Given the description of an element on the screen output the (x, y) to click on. 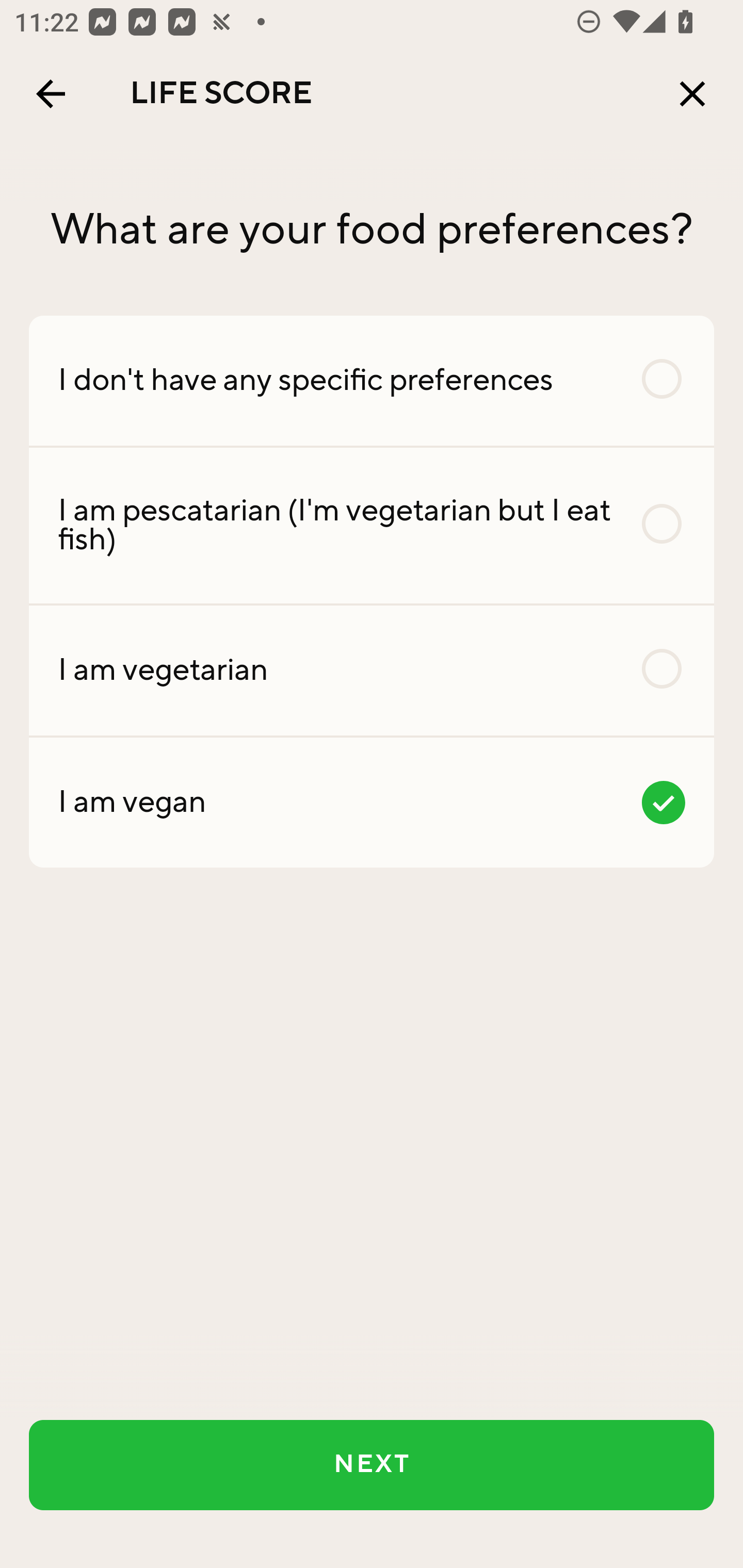
I don't have any specific preferences (371, 380)
I am pescatarian (I'm vegetarian but I eat fish) (371, 525)
I am vegetarian (371, 670)
I am vegan (371, 801)
NEXT (371, 1464)
